Given the description of an element on the screen output the (x, y) to click on. 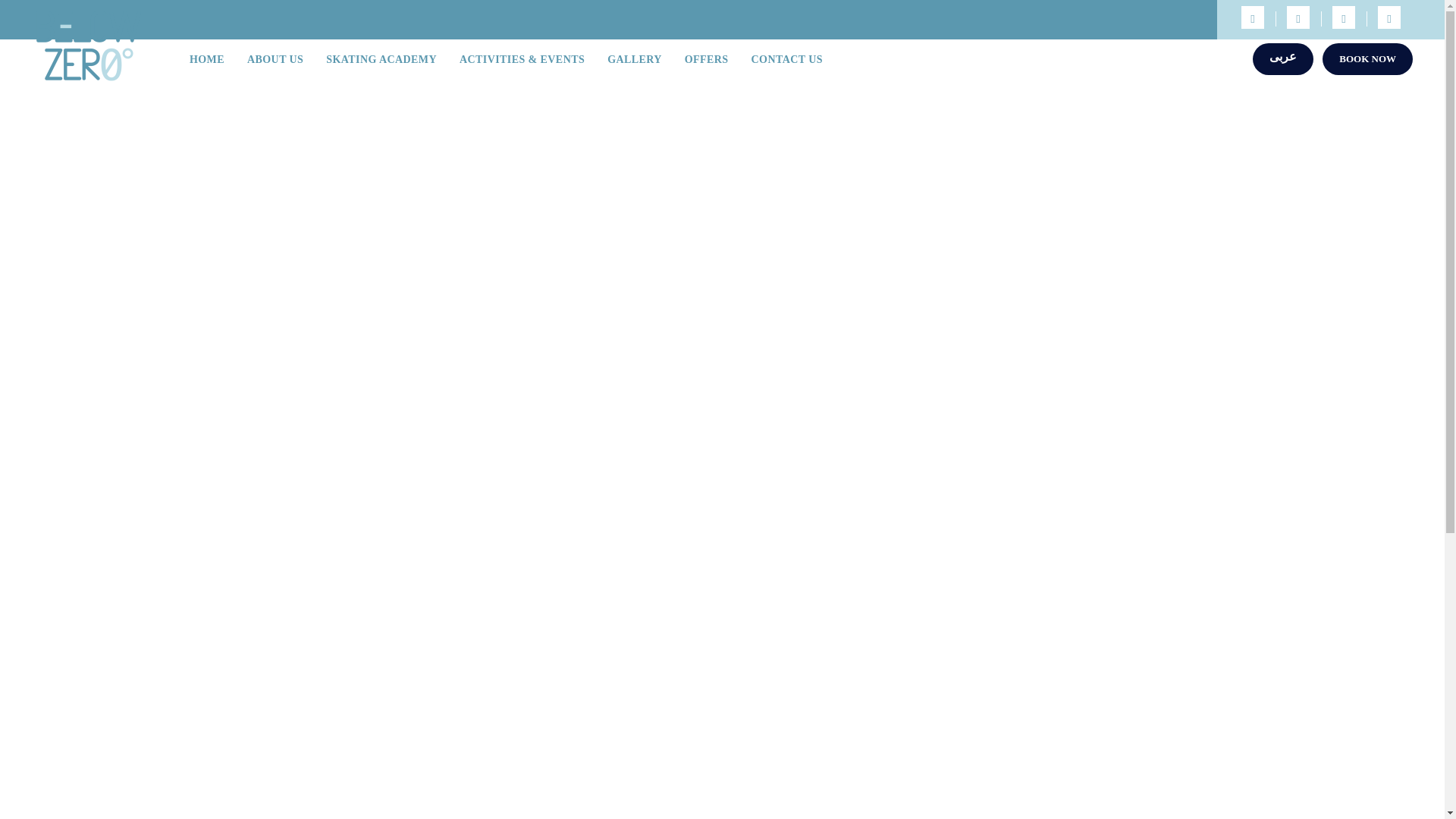
SKATING ACADEMY (381, 59)
GALLERY (634, 59)
Book Now (1330, 18)
OFFERS (706, 59)
KNEW MORE (322, 368)
Search Now! (1009, 183)
HOME (206, 59)
CONTACT US (786, 59)
ABOUT US (274, 59)
BOOK NOW (1367, 59)
